Given the description of an element on the screen output the (x, y) to click on. 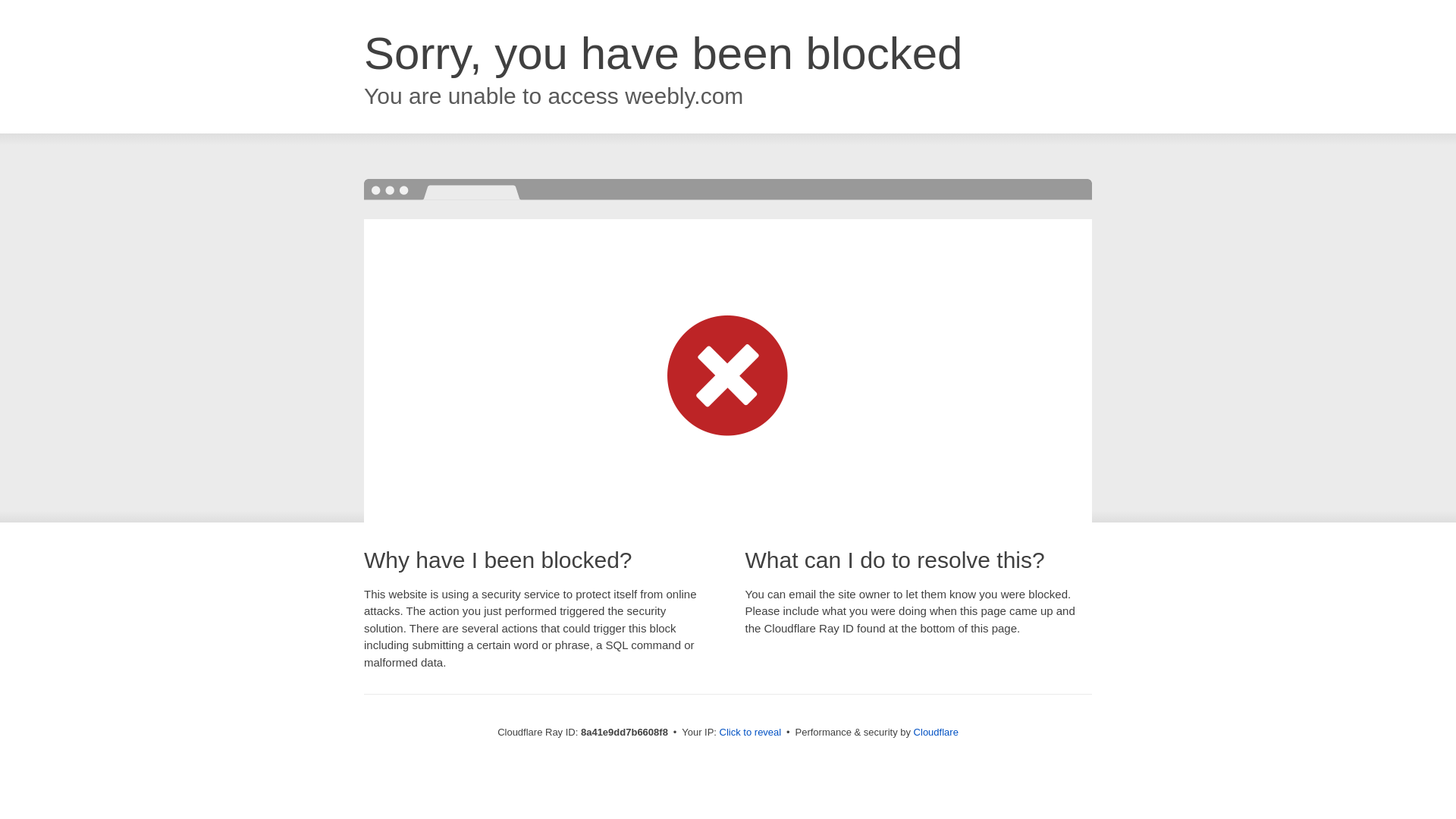
Click to reveal (750, 732)
Cloudflare (936, 731)
